Given the description of an element on the screen output the (x, y) to click on. 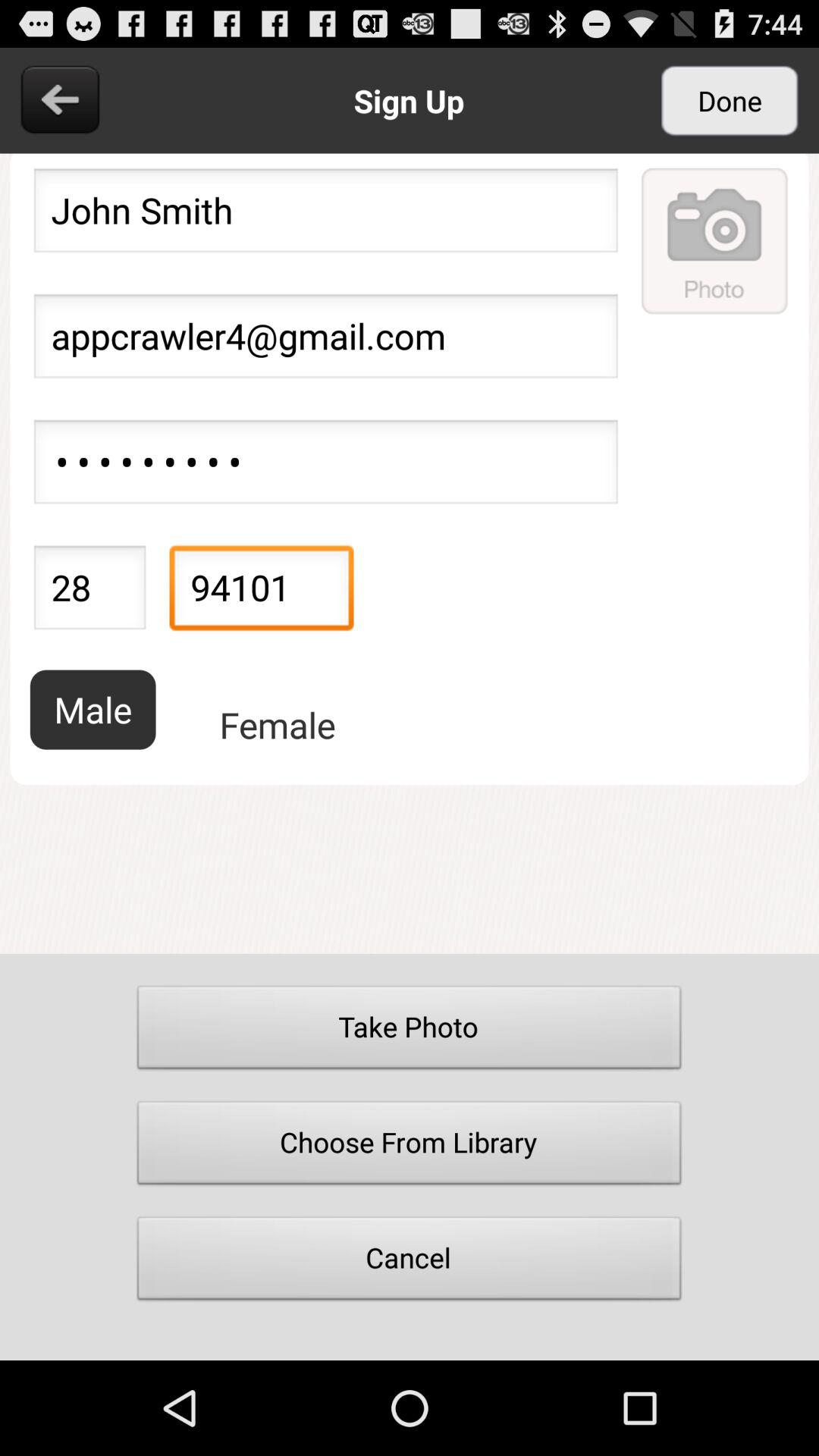
take a picture (714, 240)
